Given the description of an element on the screen output the (x, y) to click on. 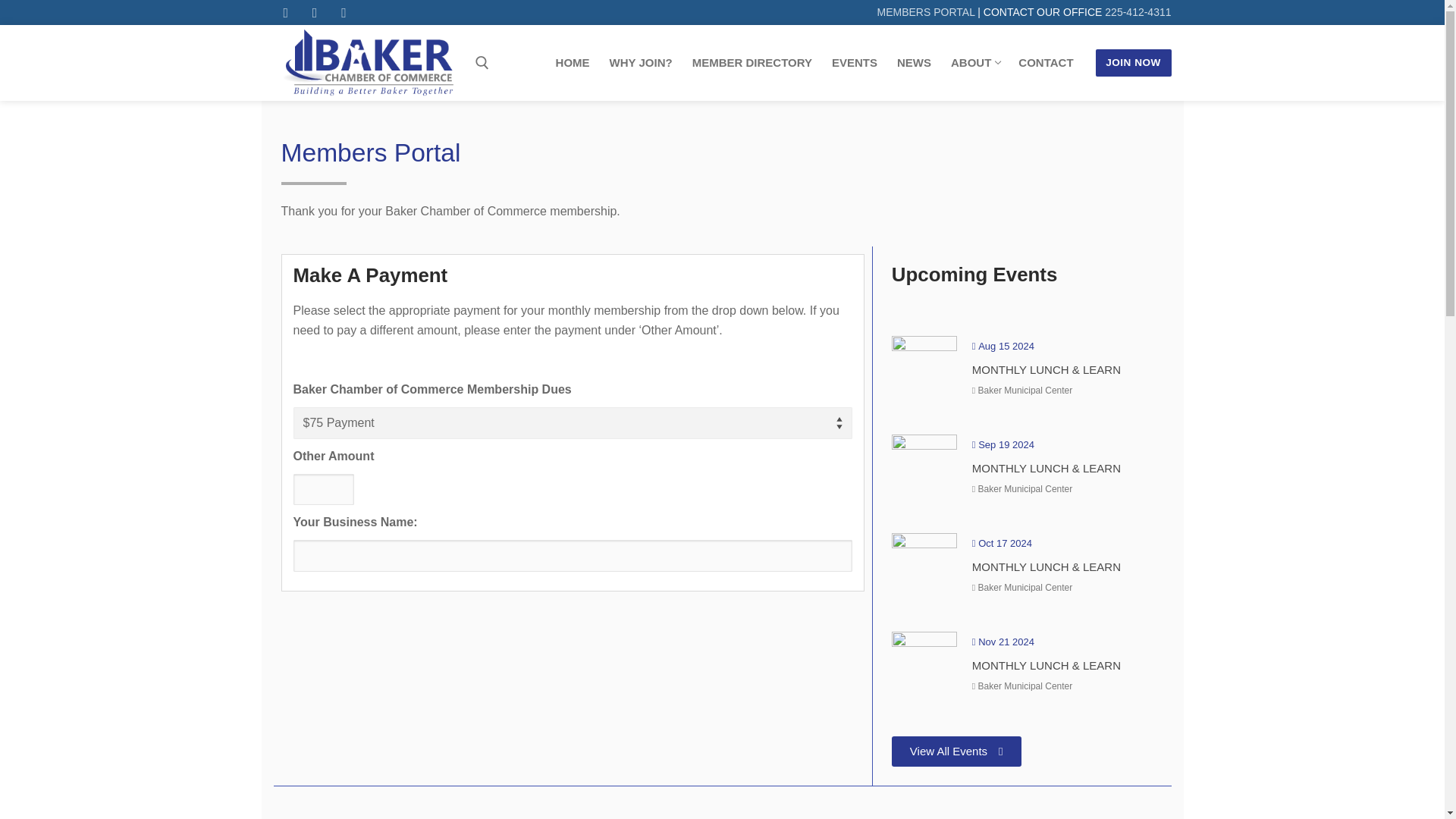
Youtube (343, 12)
CONTACT (1046, 61)
Facebook (285, 12)
Other Amount (322, 490)
MEMBERS PORTAL (926, 11)
Instagram (314, 12)
View All Events (956, 751)
HOME (974, 61)
JOIN NOW (572, 61)
EVENTS (1134, 62)
WHY JOIN? (854, 61)
225-412-4311 (640, 61)
MEMBER DIRECTORY (1137, 11)
NEWS (752, 61)
